Given the description of an element on the screen output the (x, y) to click on. 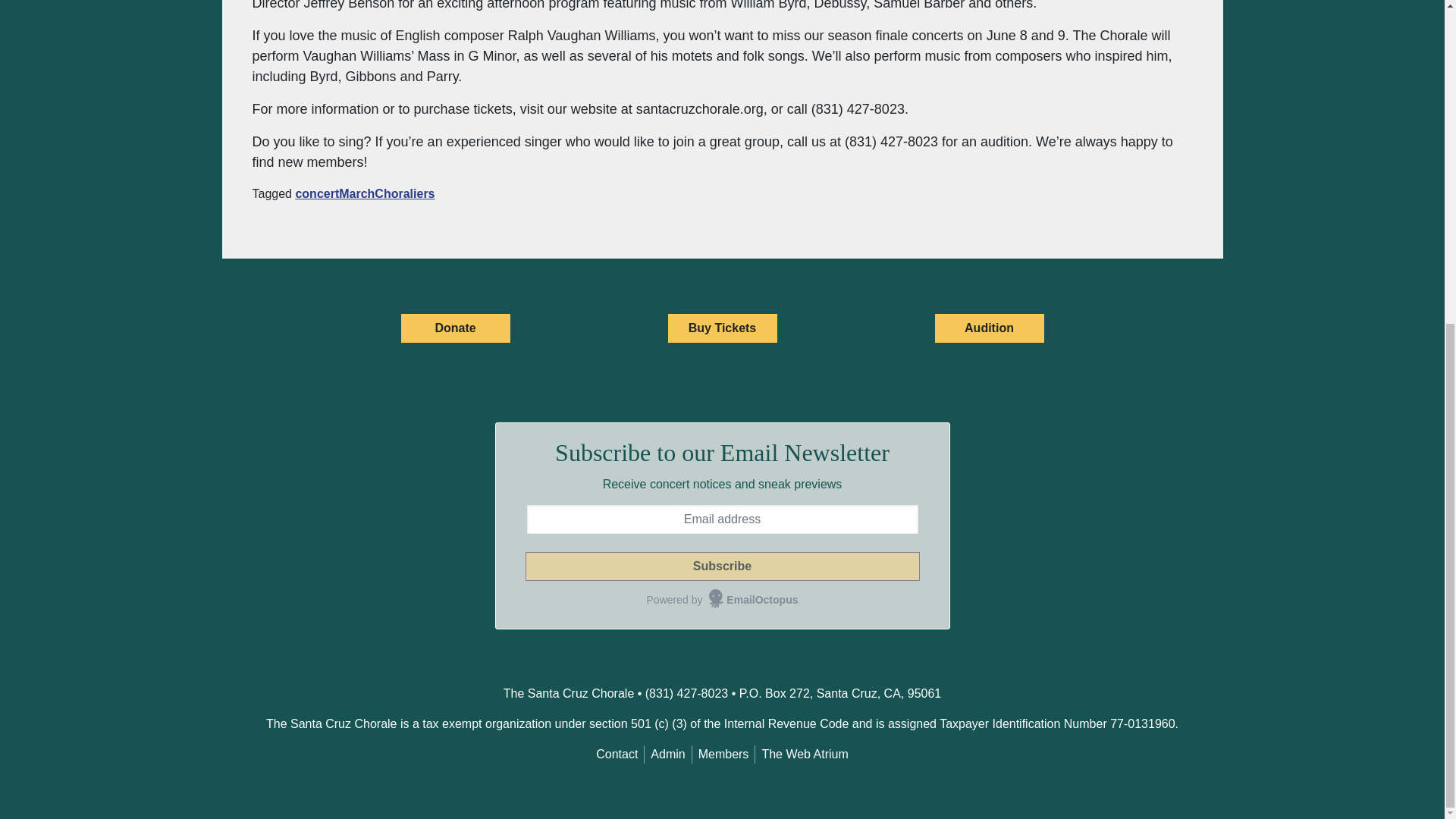
Subscribe (721, 566)
Members (724, 754)
The Web Atrium (804, 754)
Contact (616, 754)
Donate (454, 328)
EmailOctopus (753, 600)
Audition (988, 328)
Buy Tickets (721, 328)
Admin (667, 754)
concertMarchChoraliers (364, 193)
